Given the description of an element on the screen output the (x, y) to click on. 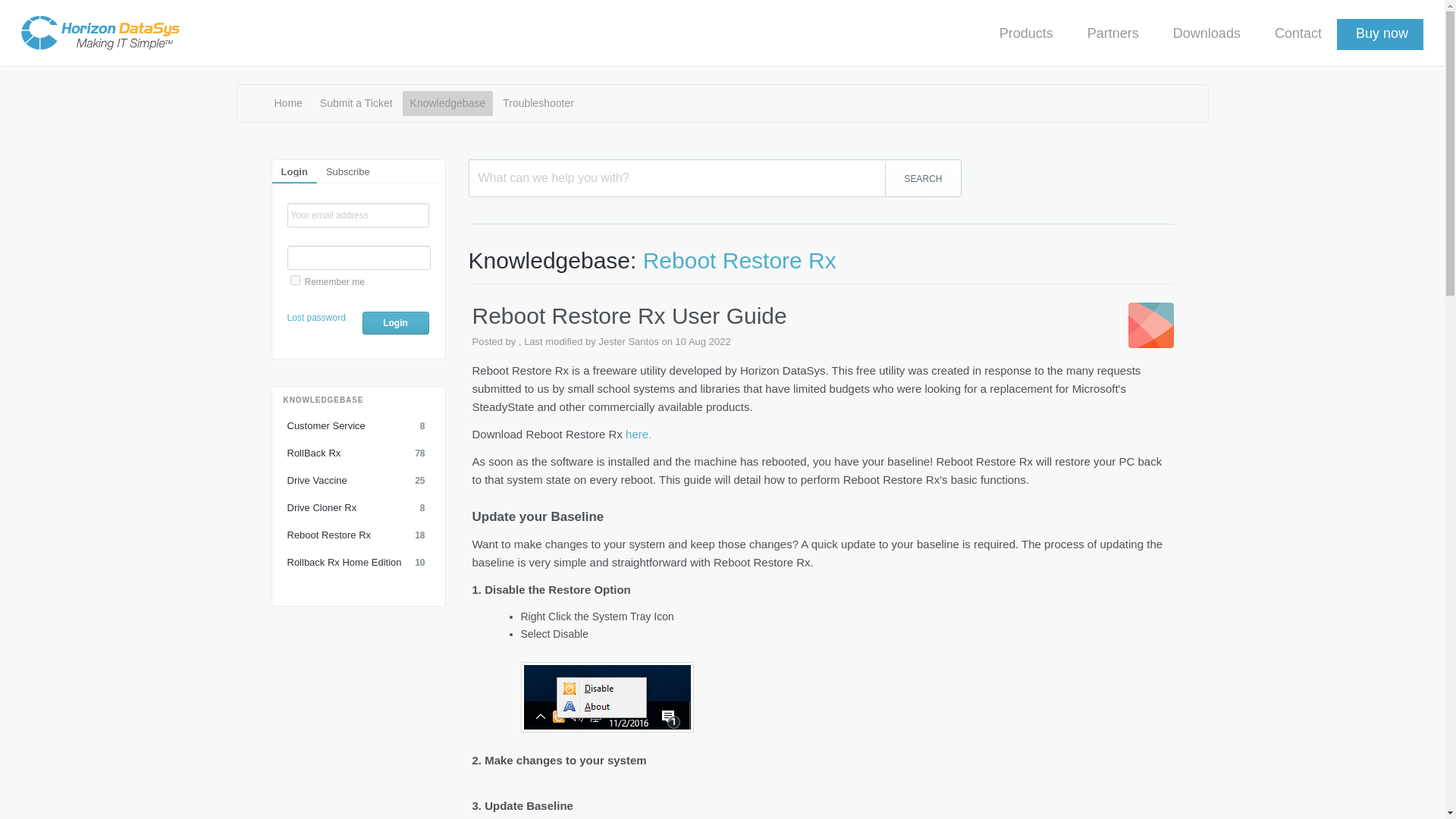
Products (1023, 33)
Contact (1295, 33)
Knowledgebase (448, 103)
Login (357, 507)
Subscribe (395, 323)
Login (347, 170)
Reboot Restore Rx (292, 171)
What can we help you with? (357, 425)
Home (739, 260)
Subscribe (714, 177)
Login (288, 103)
Lost password (347, 171)
Buy now (395, 323)
